Given the description of an element on the screen output the (x, y) to click on. 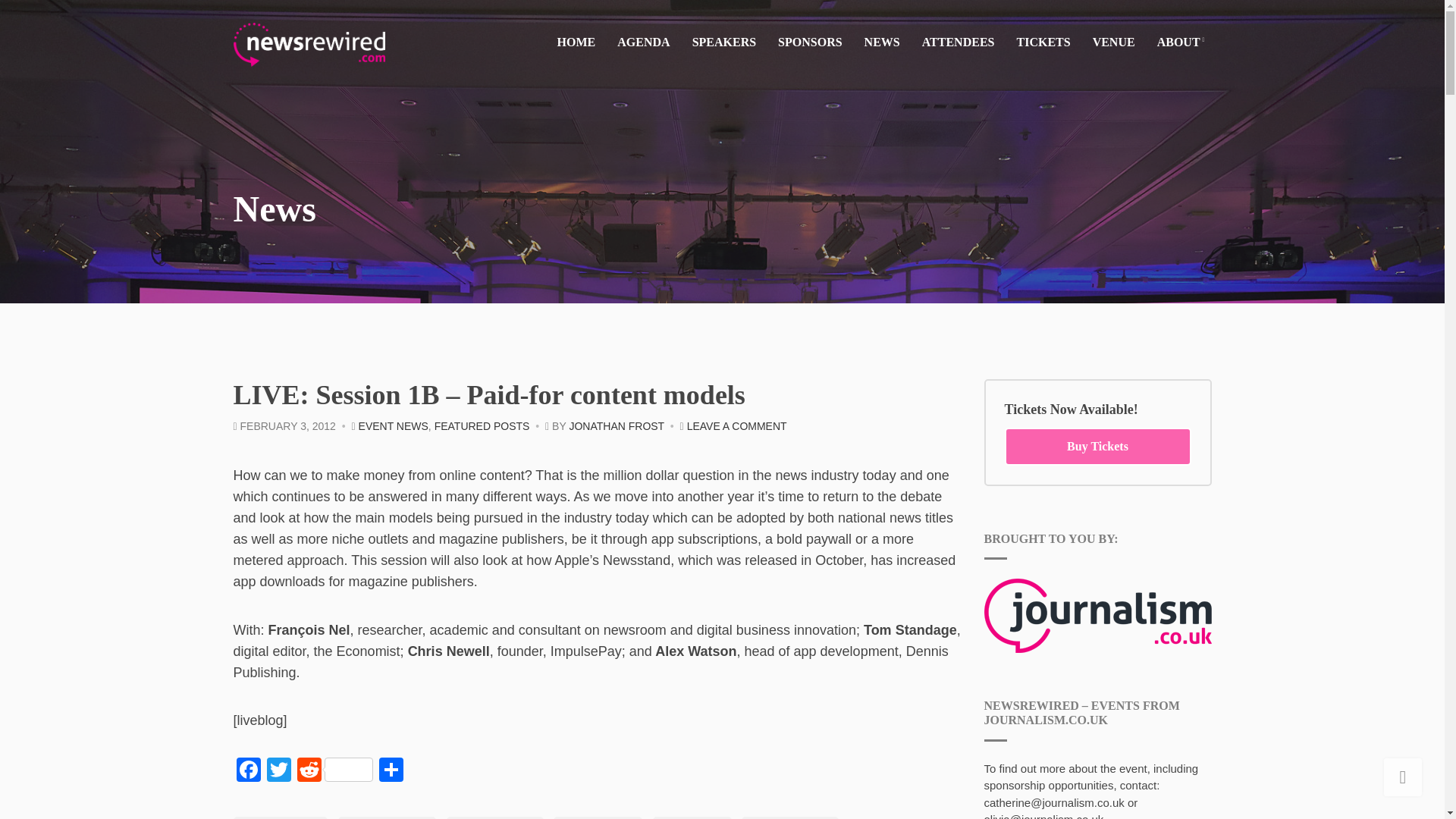
VENUE (1114, 41)
Facebook (247, 771)
EVENT NEWS (393, 426)
SPONSORS (809, 41)
NEWS (881, 41)
TICKETS (1043, 41)
Facebook (247, 771)
HOME (576, 41)
Reddit (334, 771)
SPEAKERS (724, 41)
ATTENDEES (957, 41)
Twitter (278, 771)
FEATURED POSTS (481, 426)
JONATHAN FROST (616, 426)
ABOUT (1179, 44)
